Given the description of an element on the screen output the (x, y) to click on. 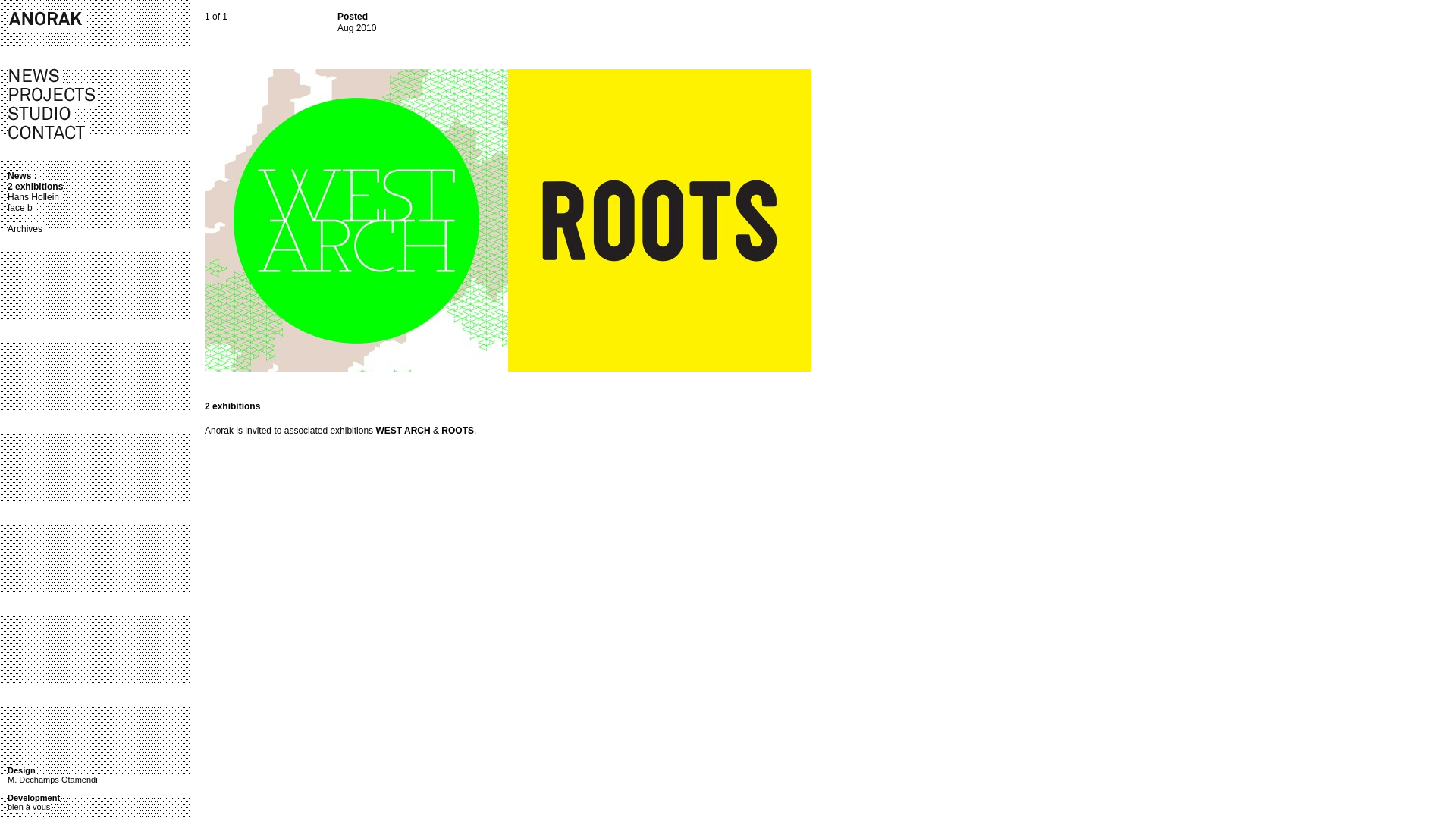
Archives Element type: text (26, 228)
Hans Hollein Element type: text (34, 196)
ROOTS Element type: text (457, 430)
WEST ARCH Element type: text (402, 430)
M. Dechamps Otamendi Element type: text (52, 779)
face b Element type: text (21, 207)
